Given the description of an element on the screen output the (x, y) to click on. 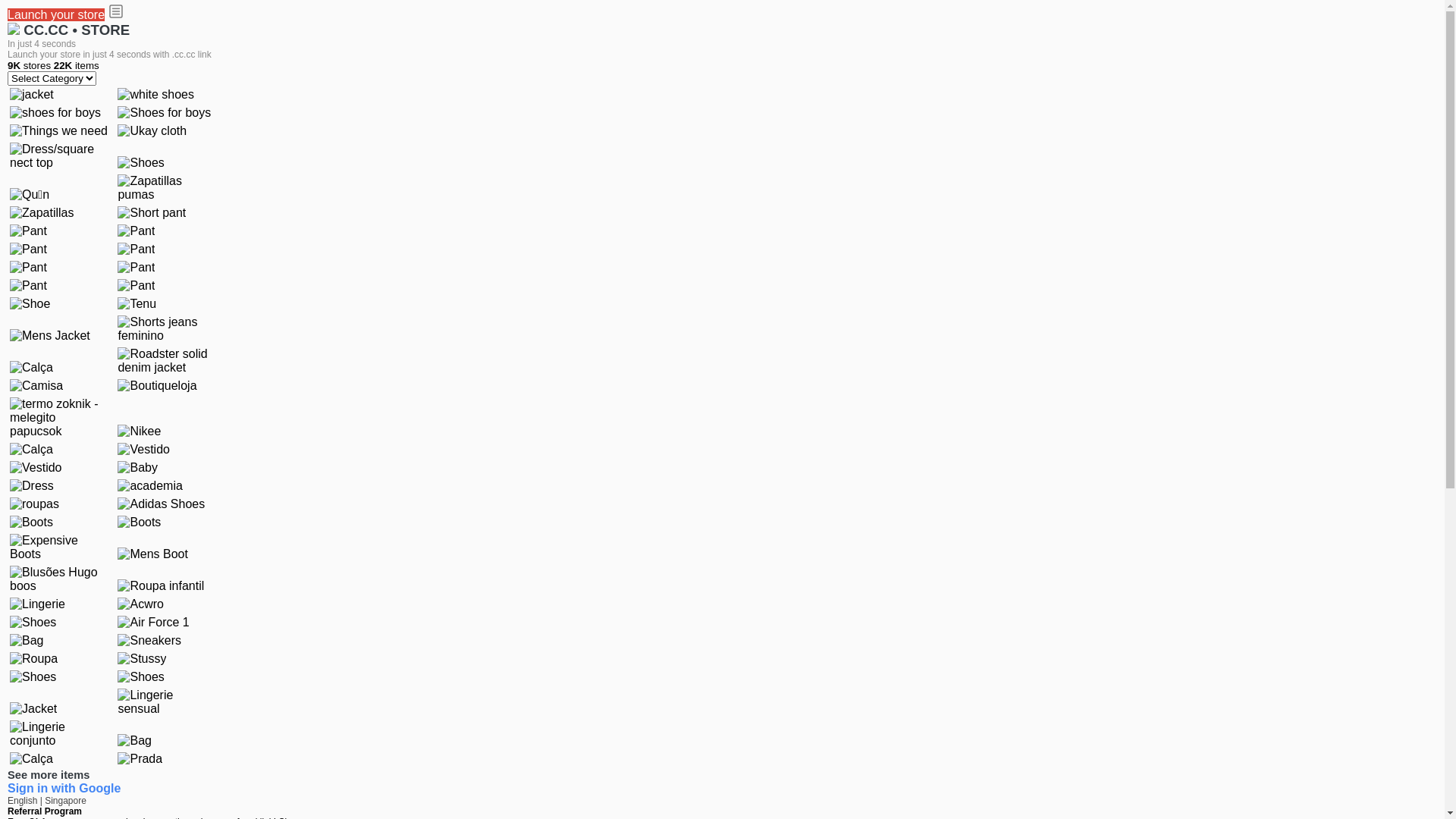
academia Element type: hover (149, 485)
English Element type: text (23, 800)
Lingerie sensual Element type: hover (167, 701)
Roupa Element type: hover (33, 658)
Shoes Element type: hover (140, 162)
Ukay cloth Element type: hover (151, 131)
Adidas Shoes Element type: hover (160, 504)
Bag Element type: hover (26, 640)
Acwro Element type: hover (140, 604)
Lingerie conjunto Element type: hover (59, 733)
Boots Element type: hover (138, 522)
Bag Element type: hover (133, 740)
Expensive Boots Element type: hover (59, 547)
Pant Element type: hover (135, 249)
Sign in with Google Element type: text (63, 787)
Shorts jeans feminino Element type: hover (167, 328)
Air Force 1 Element type: hover (152, 622)
Dress/square nect top Element type: hover (59, 155)
Vestido Element type: hover (143, 449)
Pant Element type: hover (28, 231)
Sneakers Element type: hover (149, 640)
Boots Element type: hover (31, 522)
Jacket Element type: hover (32, 708)
Vestido Element type: hover (35, 467)
Pant Element type: hover (28, 249)
Short pant Element type: hover (151, 212)
Roupa infantil Element type: hover (160, 586)
Mens Jacket Element type: hover (49, 335)
Nikee Element type: hover (138, 431)
Zapatillas Element type: hover (41, 212)
Dress Element type: hover (31, 485)
Lingerie Element type: hover (37, 604)
Pant Element type: hover (135, 285)
Shoes Element type: hover (32, 622)
Pant Element type: hover (28, 267)
Things we need Element type: hover (58, 131)
jacket Element type: hover (31, 94)
white shoes Element type: hover (155, 94)
Zapatillas pumas Element type: hover (167, 187)
Prada Element type: hover (139, 758)
termo zoknik - melegito papucsok Element type: hover (59, 417)
Shoes Element type: hover (140, 677)
Singapore Element type: text (65, 800)
Shoe Element type: hover (29, 303)
Camisa Element type: hover (35, 385)
roupas Element type: hover (34, 504)
Mens Boot Element type: hover (152, 554)
See more items Element type: text (48, 774)
Pant Element type: hover (135, 231)
Launch your store Element type: text (55, 14)
Roadster solid denim jacket Element type: hover (167, 360)
Stussy Element type: hover (141, 658)
Pant Element type: hover (28, 285)
Tenu Element type: hover (136, 303)
Pant Element type: hover (135, 267)
Baby Element type: hover (136, 467)
Boutiqueloja Element type: hover (156, 385)
shoes for boys Element type: hover (54, 112)
Shoes for boys Element type: hover (163, 112)
Shoes Element type: hover (32, 677)
